Given the description of an element on the screen output the (x, y) to click on. 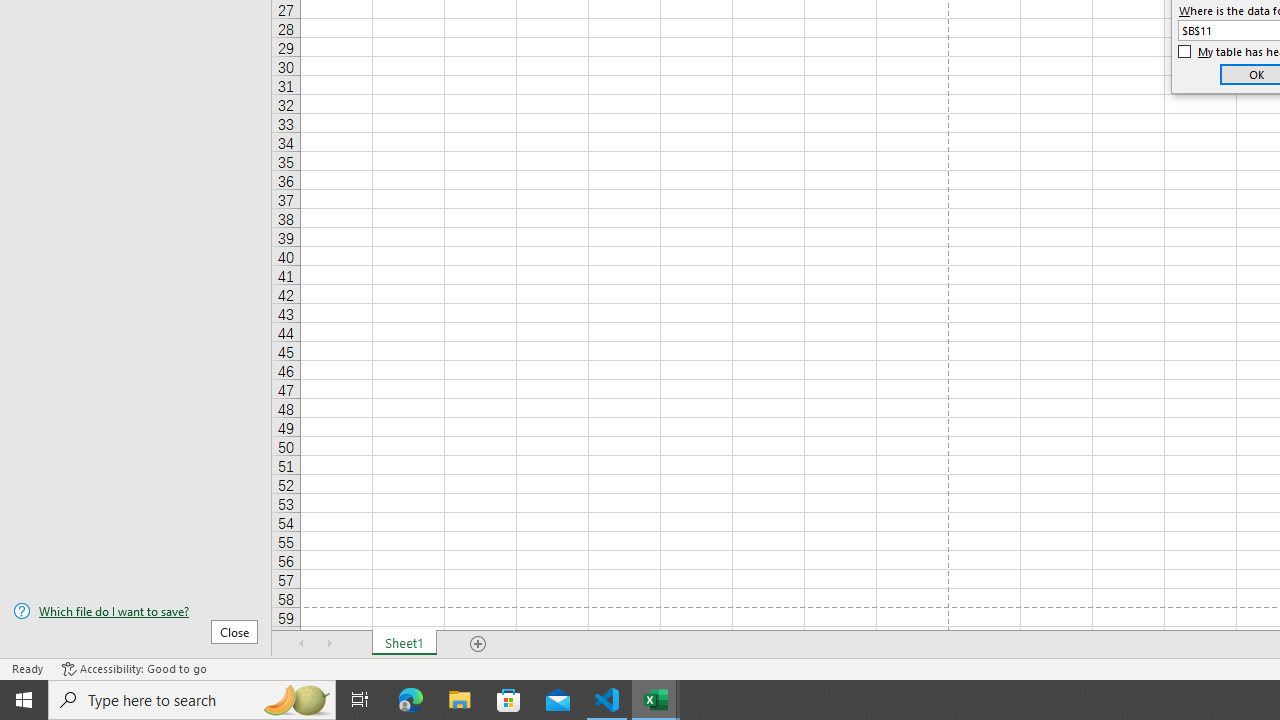
Which file do I want to save? (136, 611)
